Given the description of an element on the screen output the (x, y) to click on. 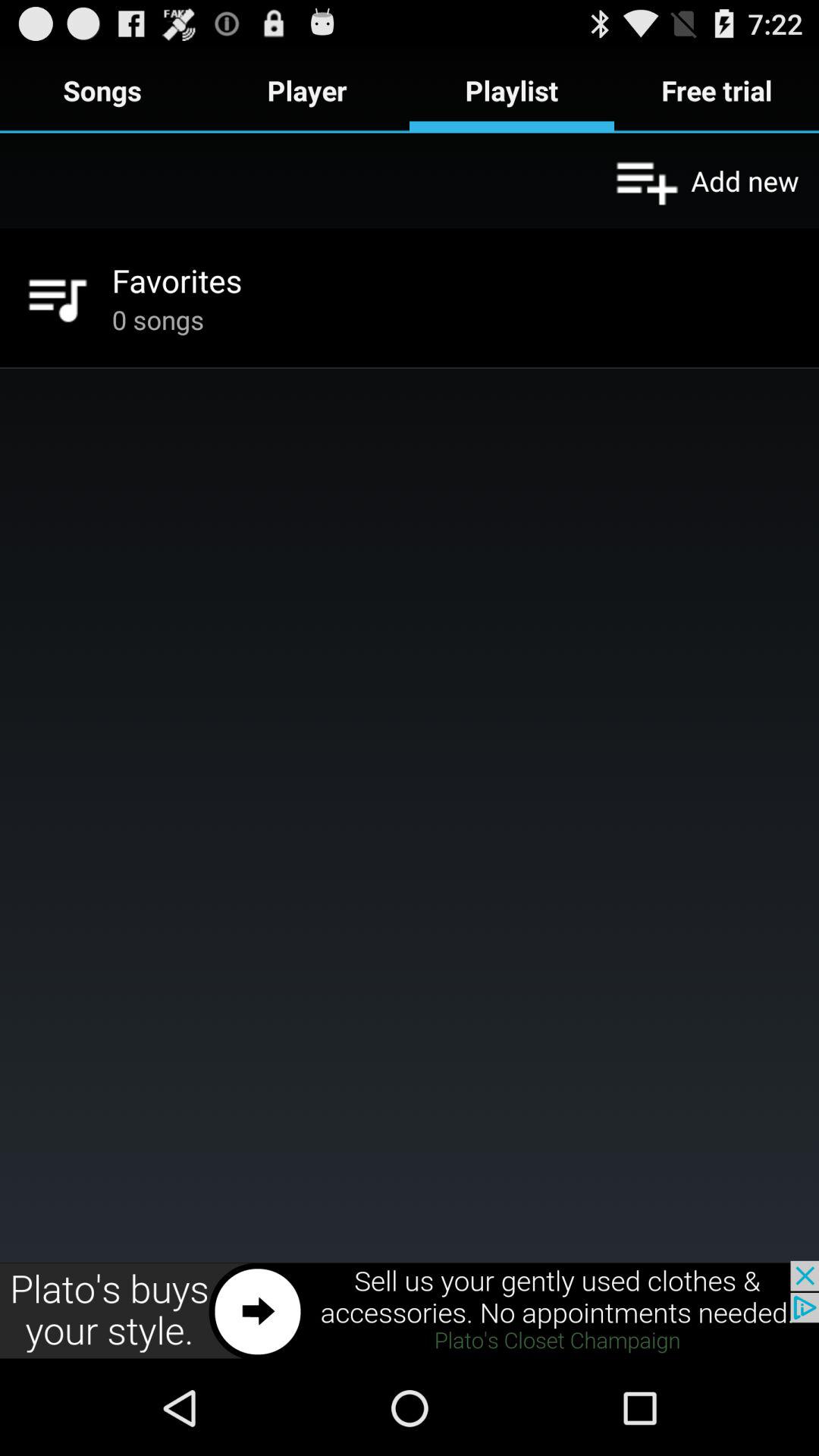
click the advertisement (409, 1310)
